Given the description of an element on the screen output the (x, y) to click on. 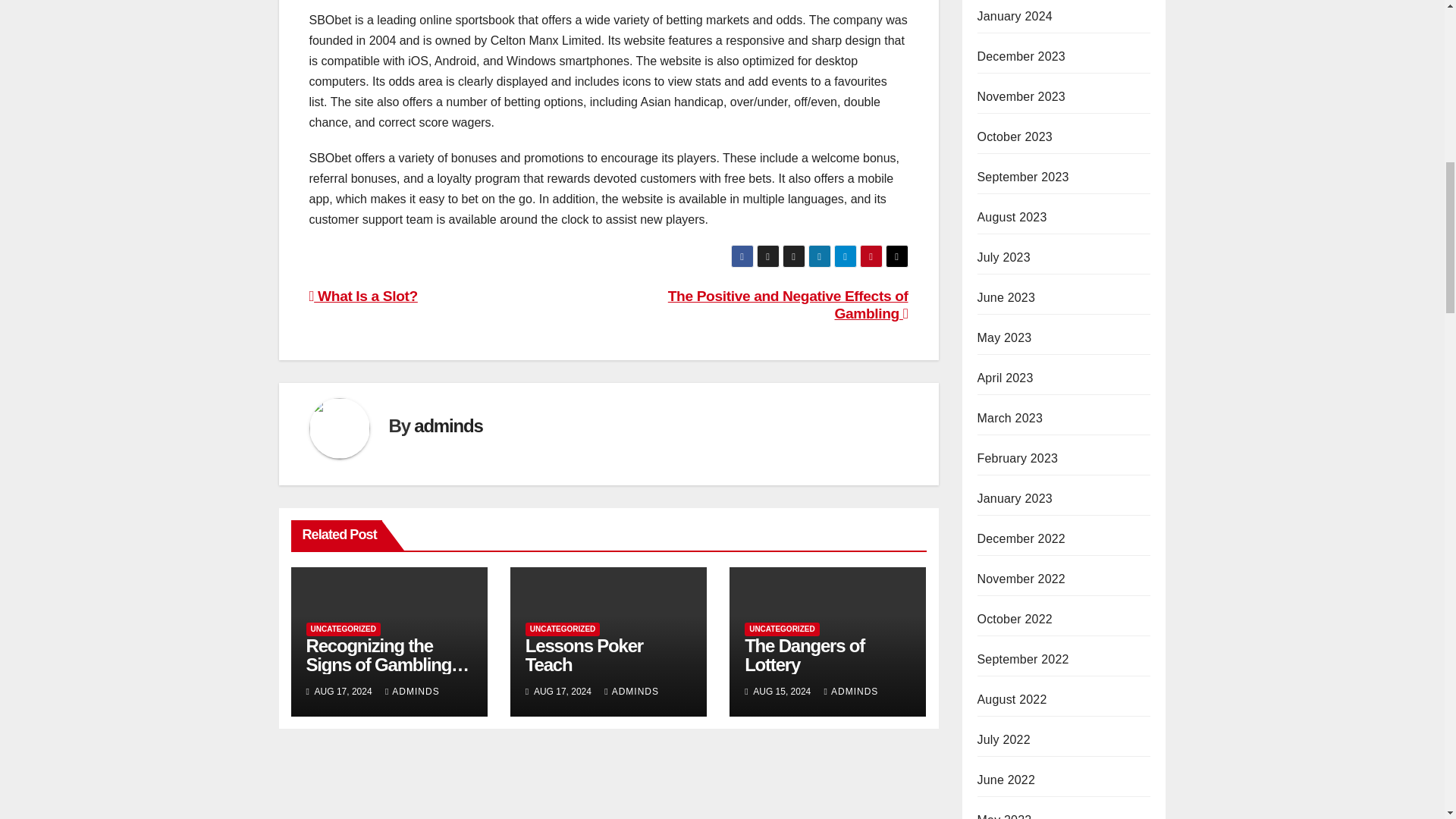
Recognizing the Signs of Gambling Addiction (387, 664)
Permalink to: The Dangers of Lottery (804, 654)
Lessons Poker Teach (584, 654)
ADMINDS (631, 691)
UNCATEGORIZED (342, 629)
ADMINDS (412, 691)
The Dangers of Lottery (804, 654)
adminds (447, 425)
UNCATEGORIZED (562, 629)
What Is a Slot? (362, 295)
